Given the description of an element on the screen output the (x, y) to click on. 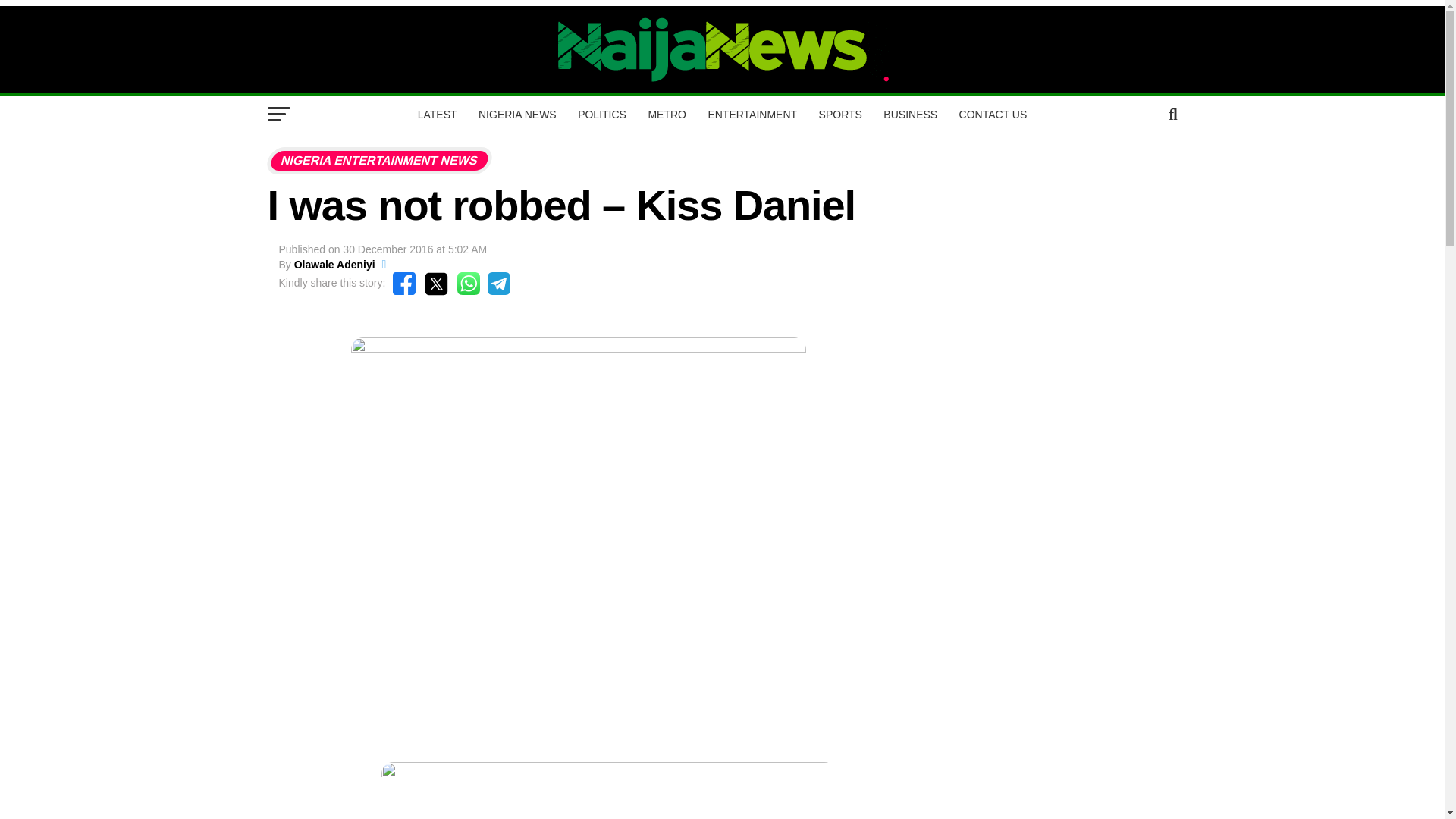
Posts by Olawale Adeniyi (334, 264)
NIGERIA NEWS (517, 114)
CONTACT US (993, 114)
SPORTS (839, 114)
BUSINESS (910, 114)
METRO (667, 114)
POLITICS (601, 114)
ENTERTAINMENT (752, 114)
LATEST (437, 114)
Olawale Adeniyi (334, 264)
